Given the description of an element on the screen output the (x, y) to click on. 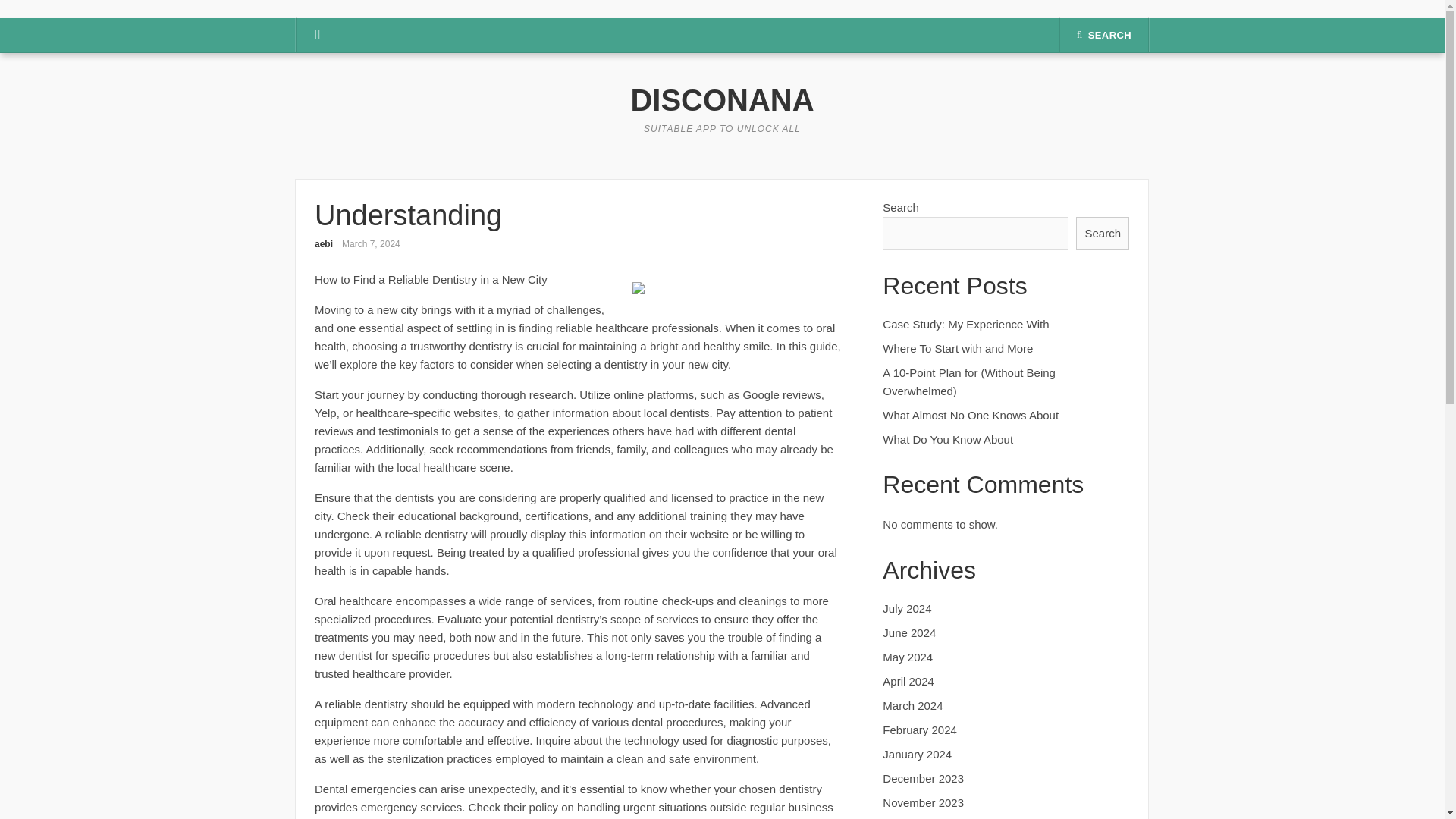
February 2024 (919, 729)
June 2024 (909, 632)
April 2024 (908, 680)
Search (1102, 233)
December 2023 (922, 778)
What Almost No One Knows About (970, 414)
Where To Start with and More (957, 348)
January 2024 (917, 753)
November 2023 (922, 802)
aebi (323, 244)
SEARCH (1104, 34)
What Do You Know About (947, 439)
March 2024 (912, 705)
Case Study: My Experience With (965, 323)
DISCONANA (721, 100)
